Given the description of an element on the screen output the (x, y) to click on. 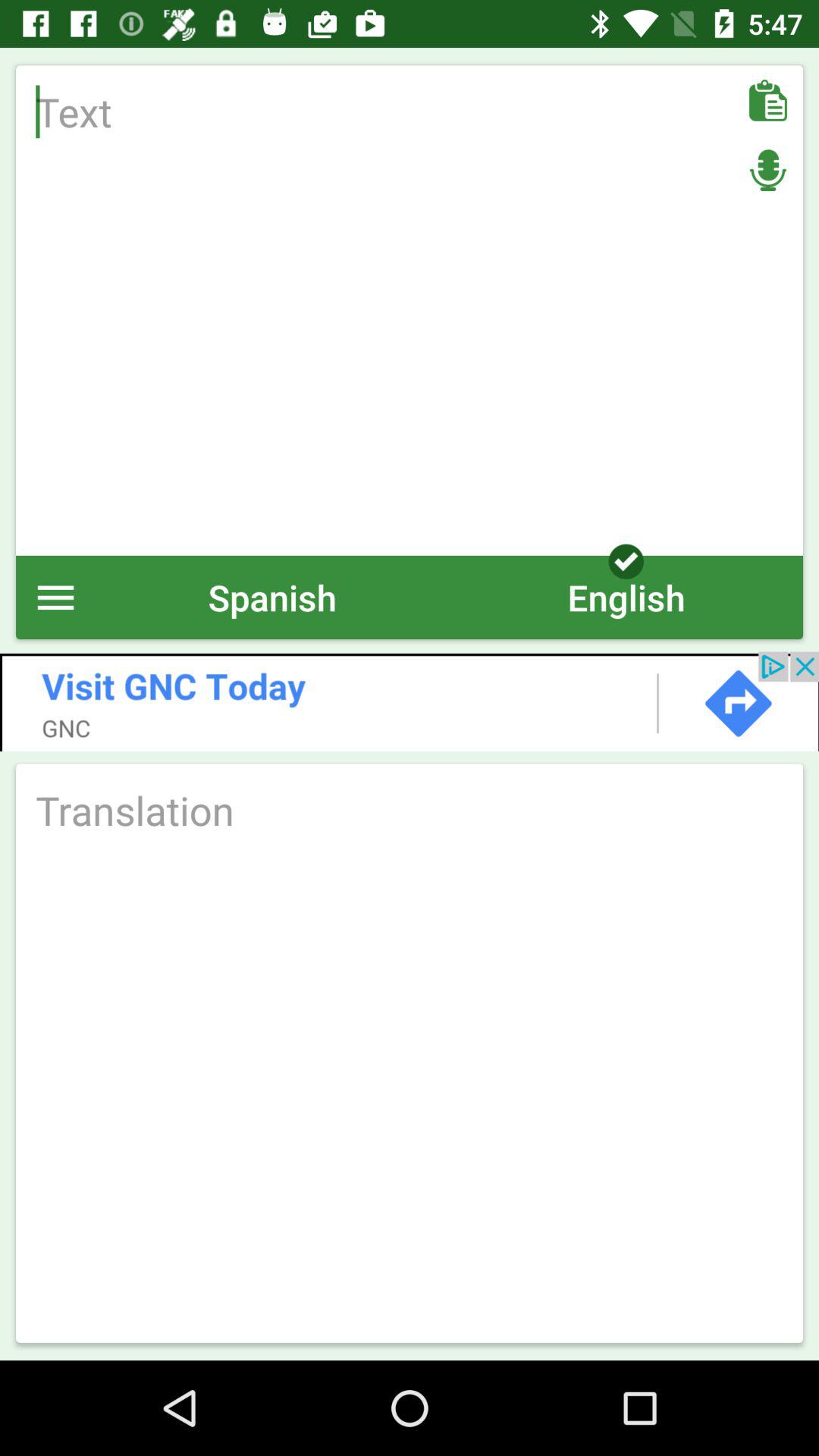
using to arrow (409, 701)
